Given the description of an element on the screen output the (x, y) to click on. 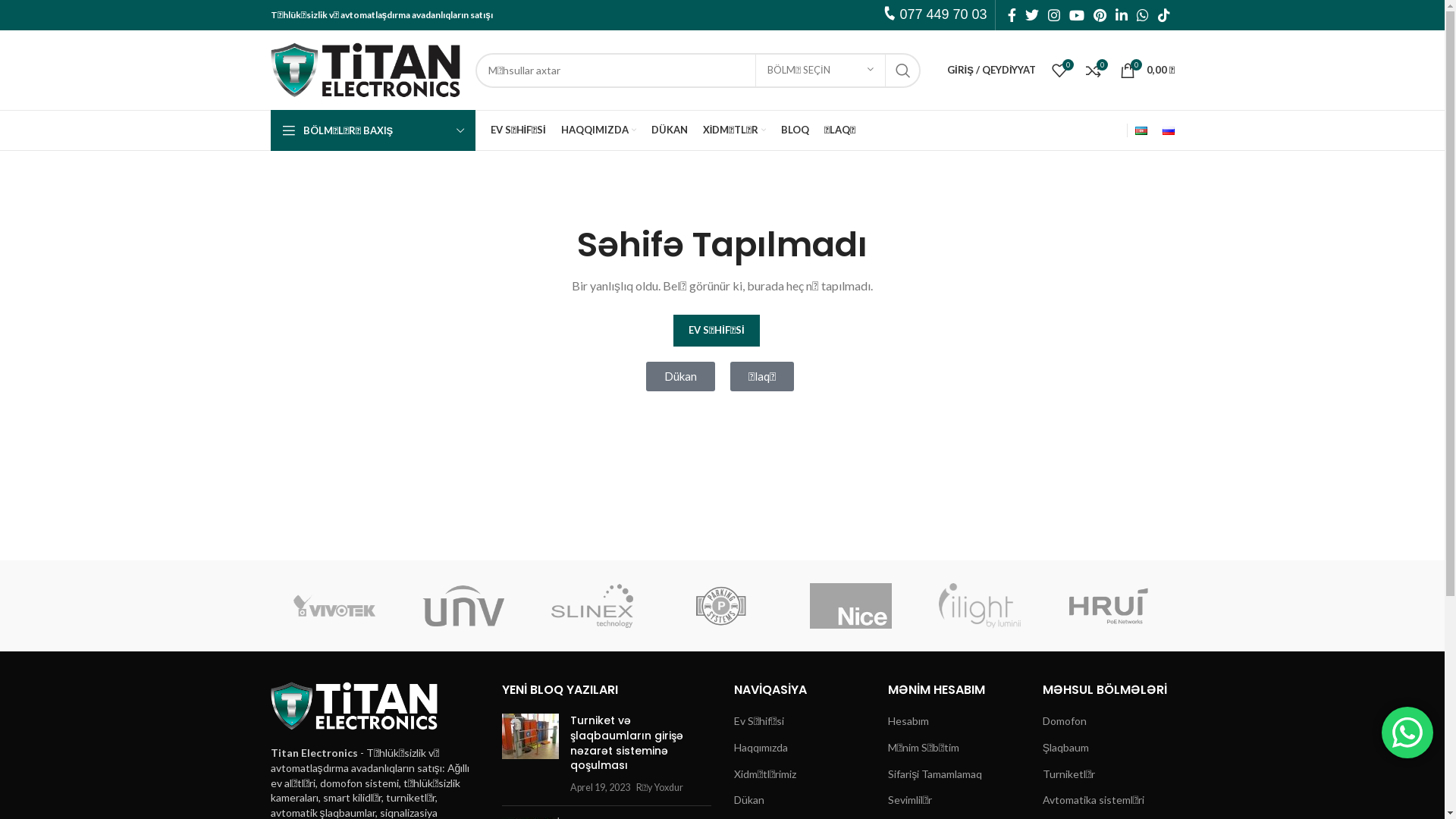
HP Element type: hover (1237, 605)
iLight Element type: hover (979, 605)
HRUI Element type: hover (1108, 605)
AXTAR Element type: text (902, 70)
Vivotek Element type: hover (334, 605)
unv Element type: hover (463, 605)
BLOQ Element type: text (795, 130)
Slinex Element type: hover (592, 605)
Parking Systems Element type: hover (720, 605)
HAQQIMIZDA Element type: text (598, 130)
Domofon Element type: text (1065, 720)
iLight Element type: hover (979, 605)
Vivotek Element type: hover (333, 605)
Slinex Element type: hover (591, 605)
0 Element type: text (1093, 69)
Nice Element type: hover (850, 605)
0 Element type: text (1058, 69)
077 449 70 03 Element type: hover (1407, 732)
unv Element type: hover (462, 605)
077 449 70 03 Element type: text (942, 13)
Parking Systems Element type: hover (721, 605)
HRUI Element type: hover (1108, 605)
